Given the description of an element on the screen output the (x, y) to click on. 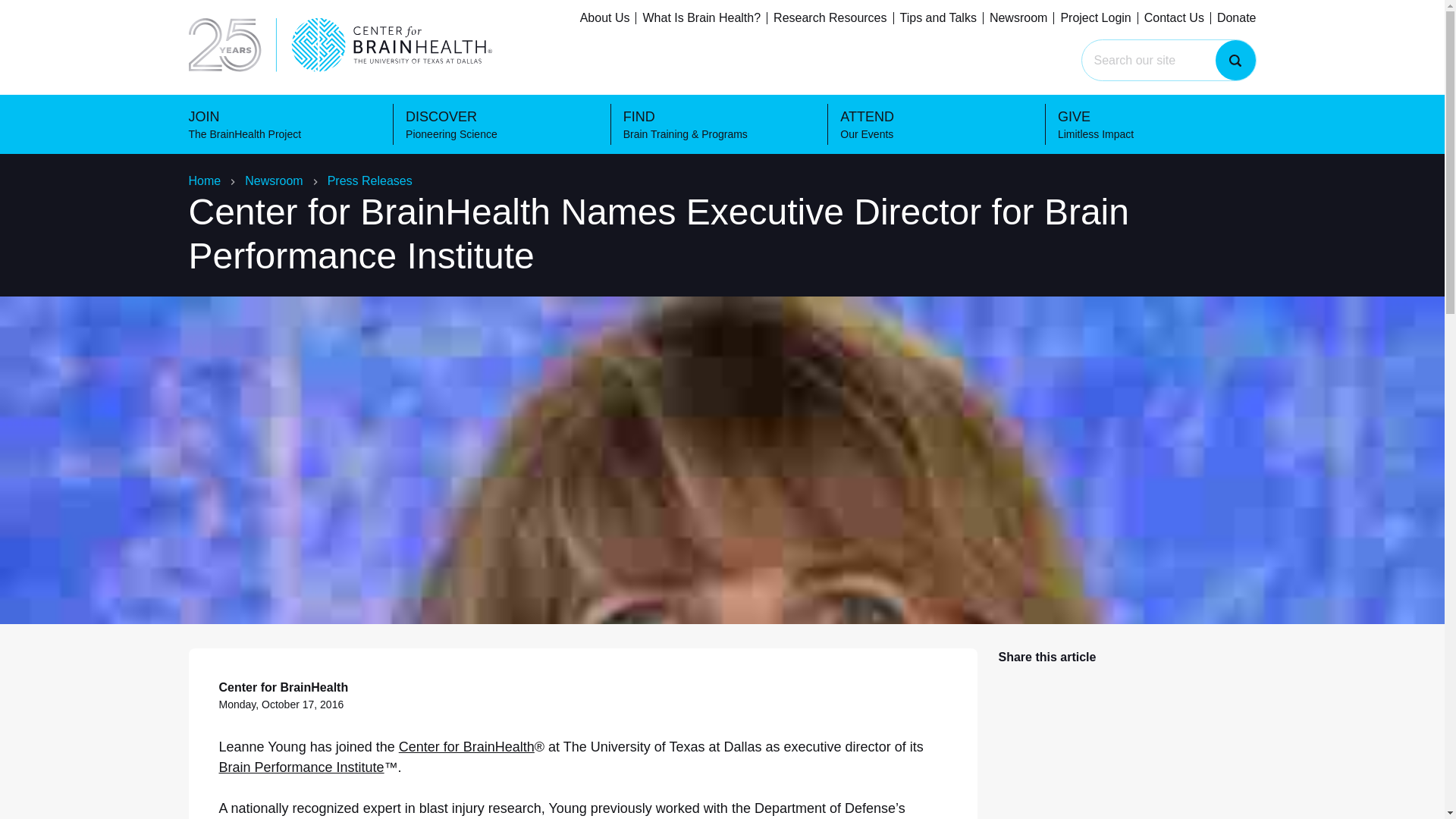
Contact Us (287, 124)
About Us (1174, 17)
Our Events (939, 124)
Tips and Talks (604, 17)
click to search (992, 19)
Donate (937, 17)
What Is Brain Health? (1234, 60)
Newsroom (1236, 17)
Home (505, 124)
Project Login (1157, 124)
Newsroom (701, 17)
